Given the description of an element on the screen output the (x, y) to click on. 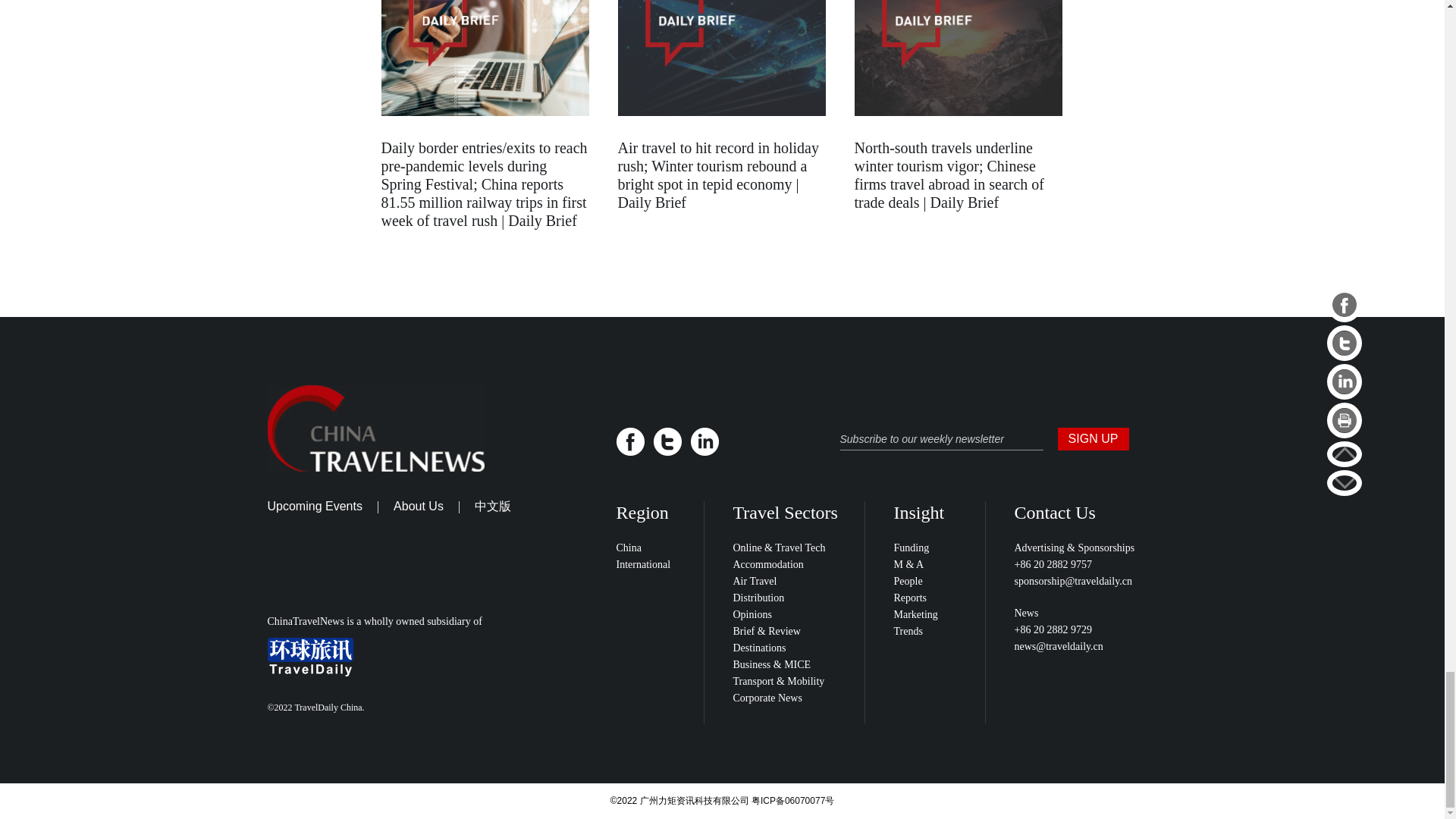
SIGN UP (1092, 438)
